Given the description of an element on the screen output the (x, y) to click on. 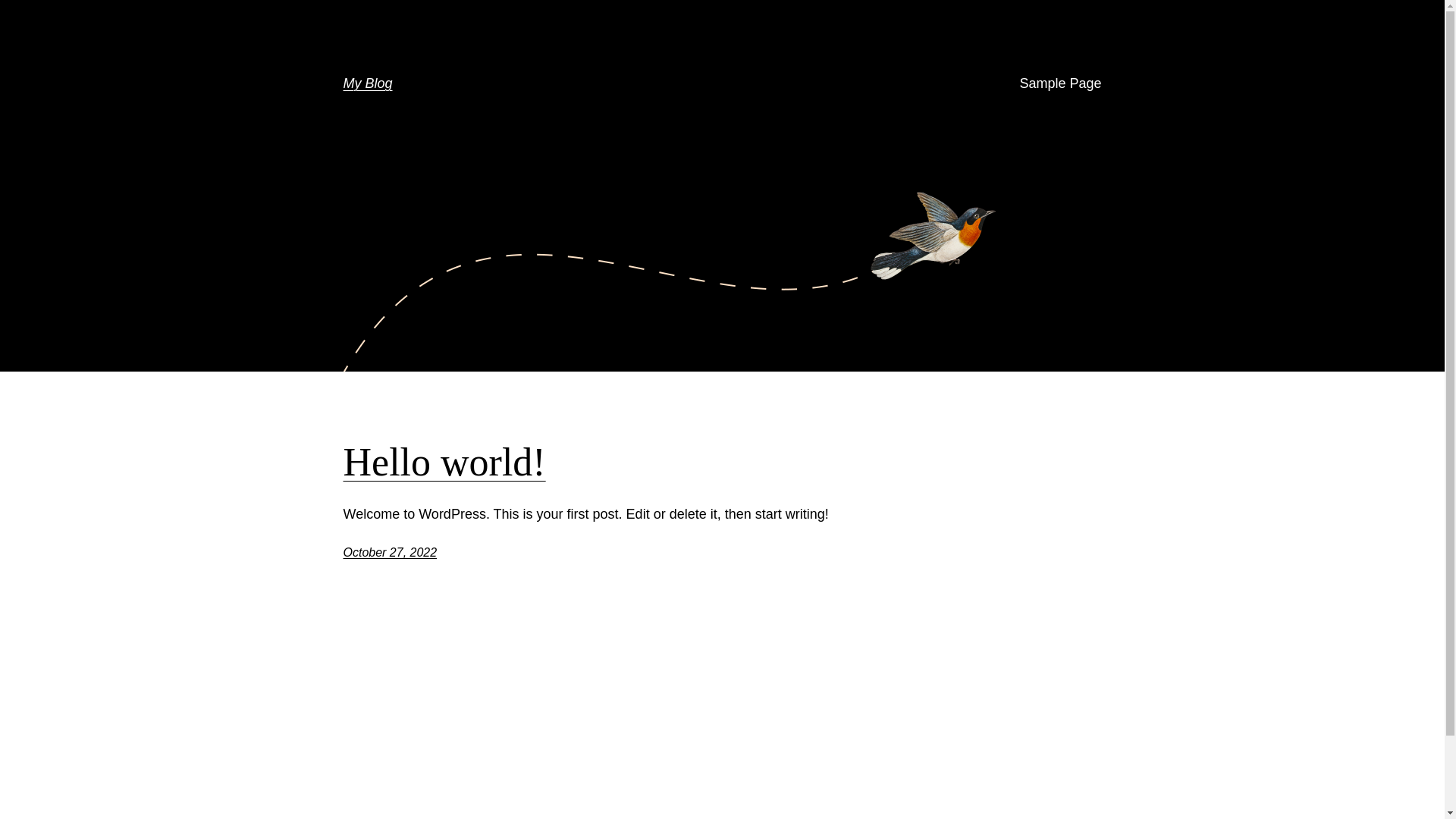
My Blog Element type: text (367, 83)
October 27, 2022 Element type: text (389, 552)
Sample Page Element type: text (1060, 83)
Hello world! Element type: text (443, 462)
